Given the description of an element on the screen output the (x, y) to click on. 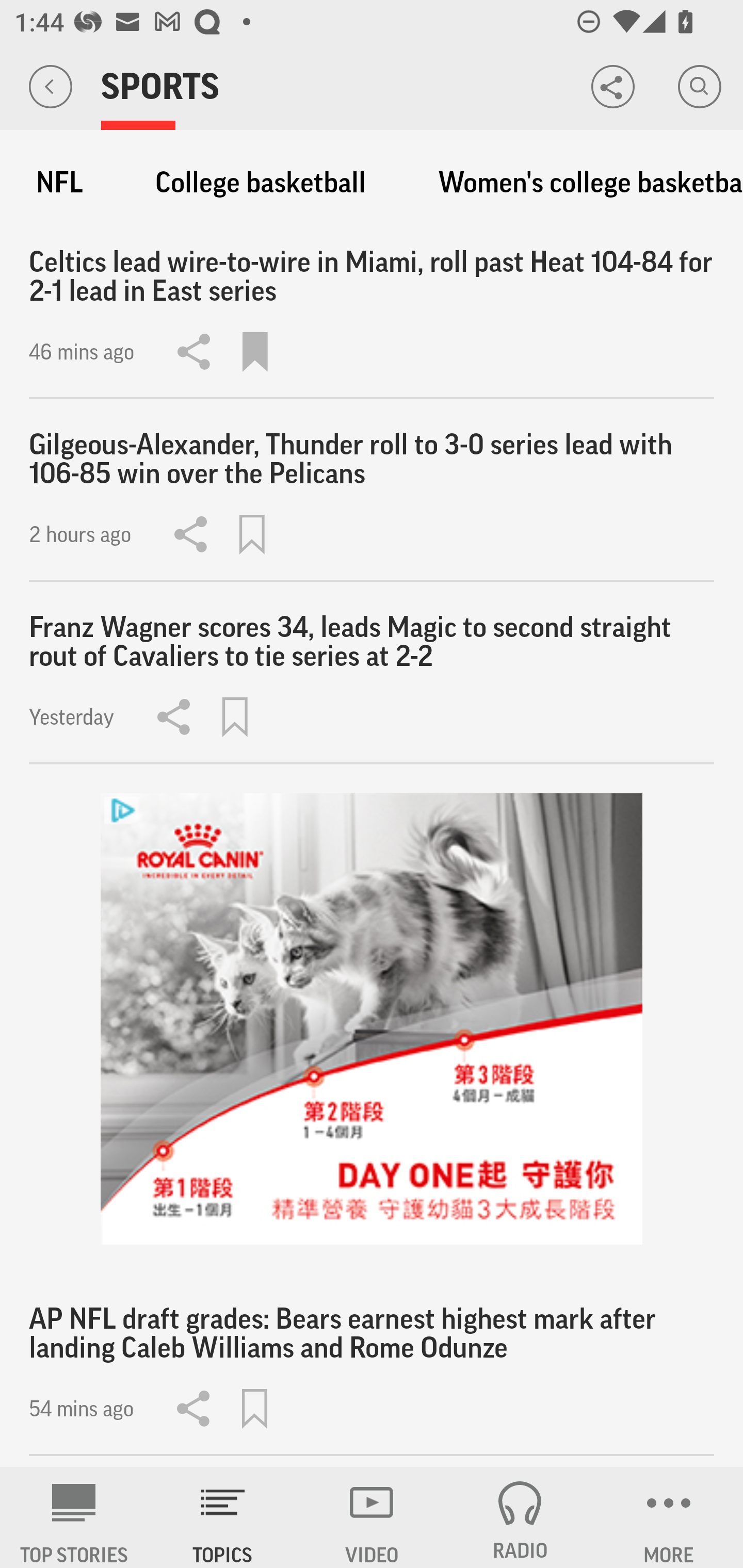
NFL (59, 182)
College basketball (260, 182)
Women's college basketball (581, 182)
ooulh2nc_300x250 (371, 1018)
AP News TOP STORIES (74, 1517)
TOPICS (222, 1517)
VIDEO (371, 1517)
RADIO (519, 1517)
MORE (668, 1517)
